Given the description of an element on the screen output the (x, y) to click on. 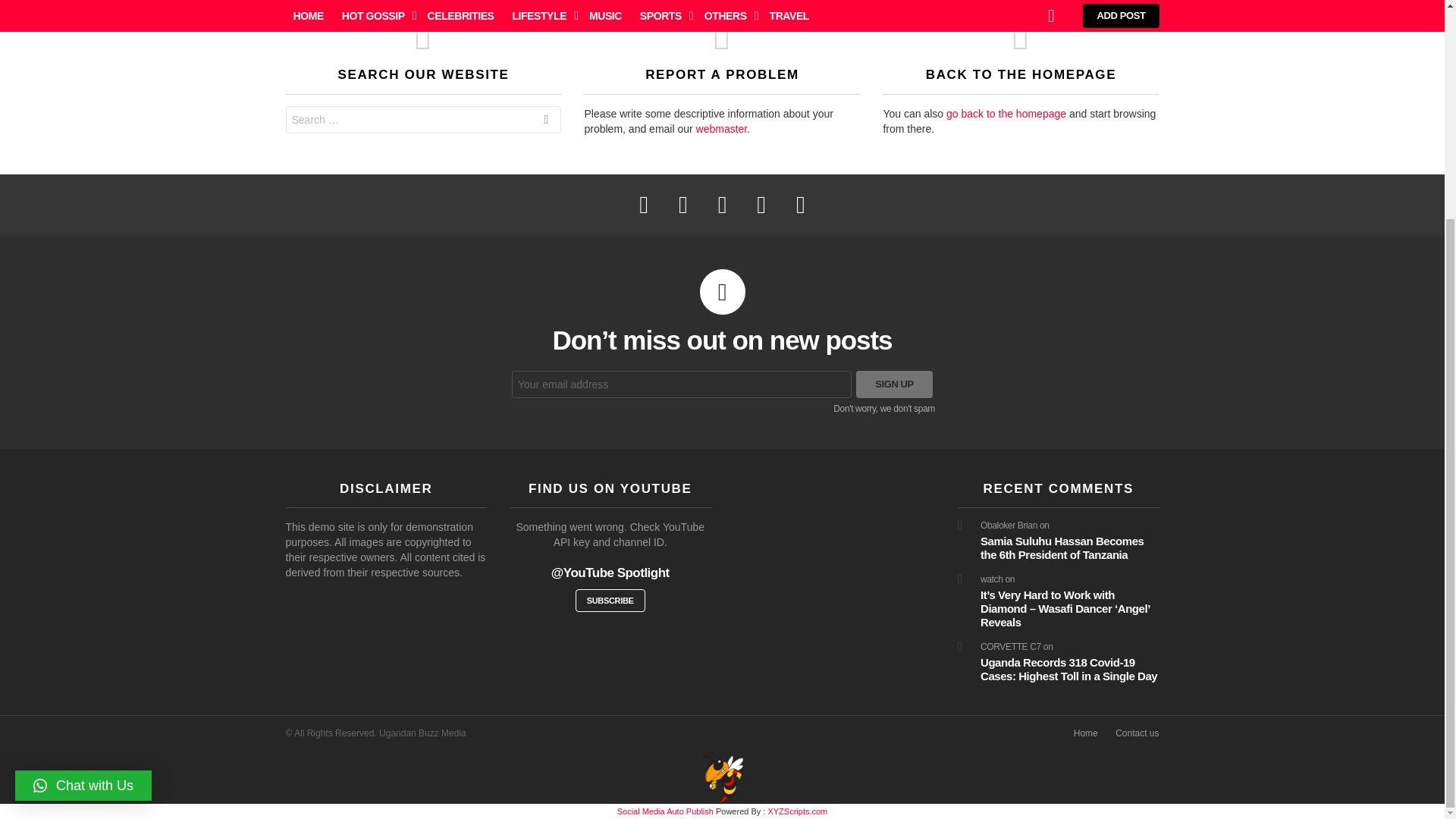
Search for: (422, 119)
Sign up (894, 384)
